Given the description of an element on the screen output the (x, y) to click on. 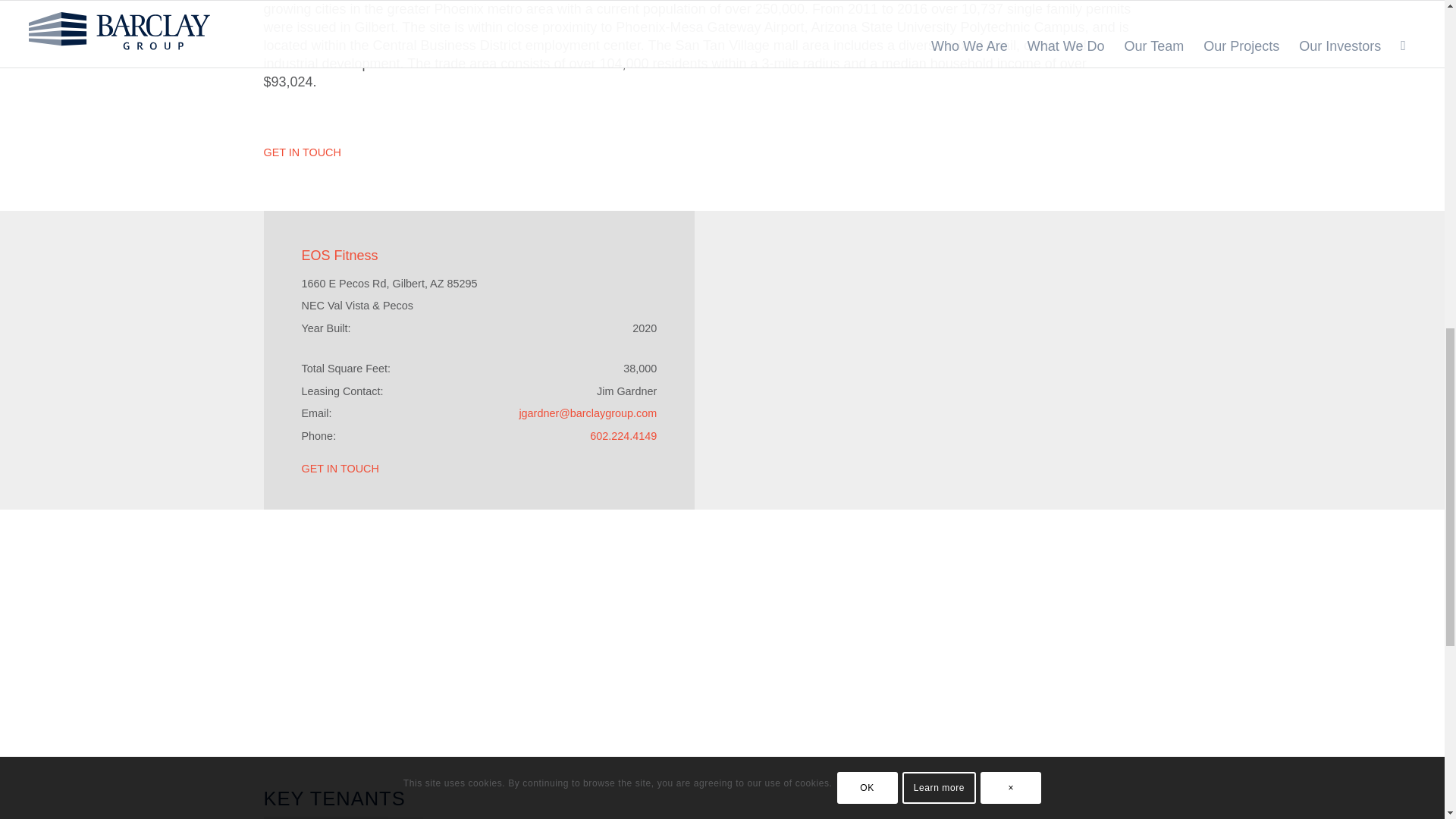
602.224.4149 (622, 435)
GET IN TOUCH (301, 152)
GET IN TOUCH (339, 468)
